Given the description of an element on the screen output the (x, y) to click on. 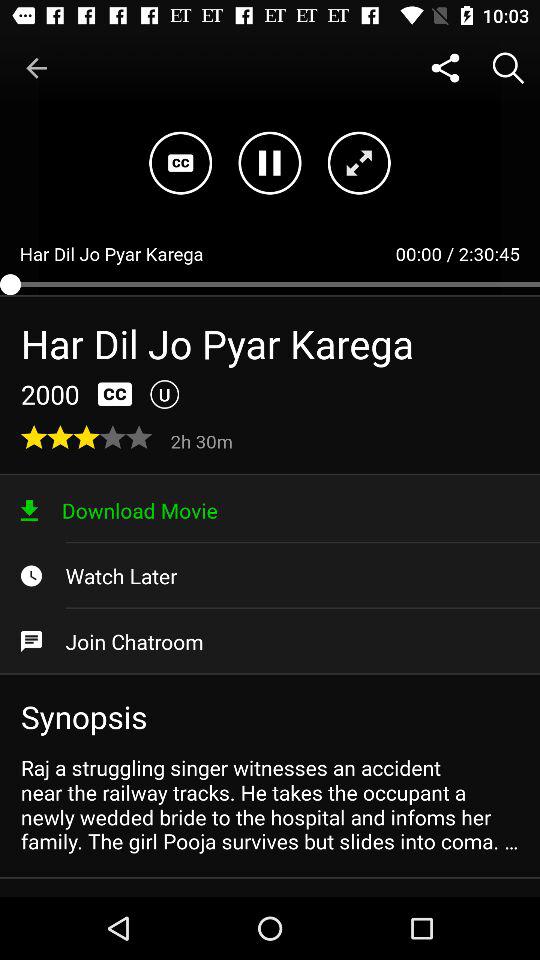
open download movie (270, 510)
